Given the description of an element on the screen output the (x, y) to click on. 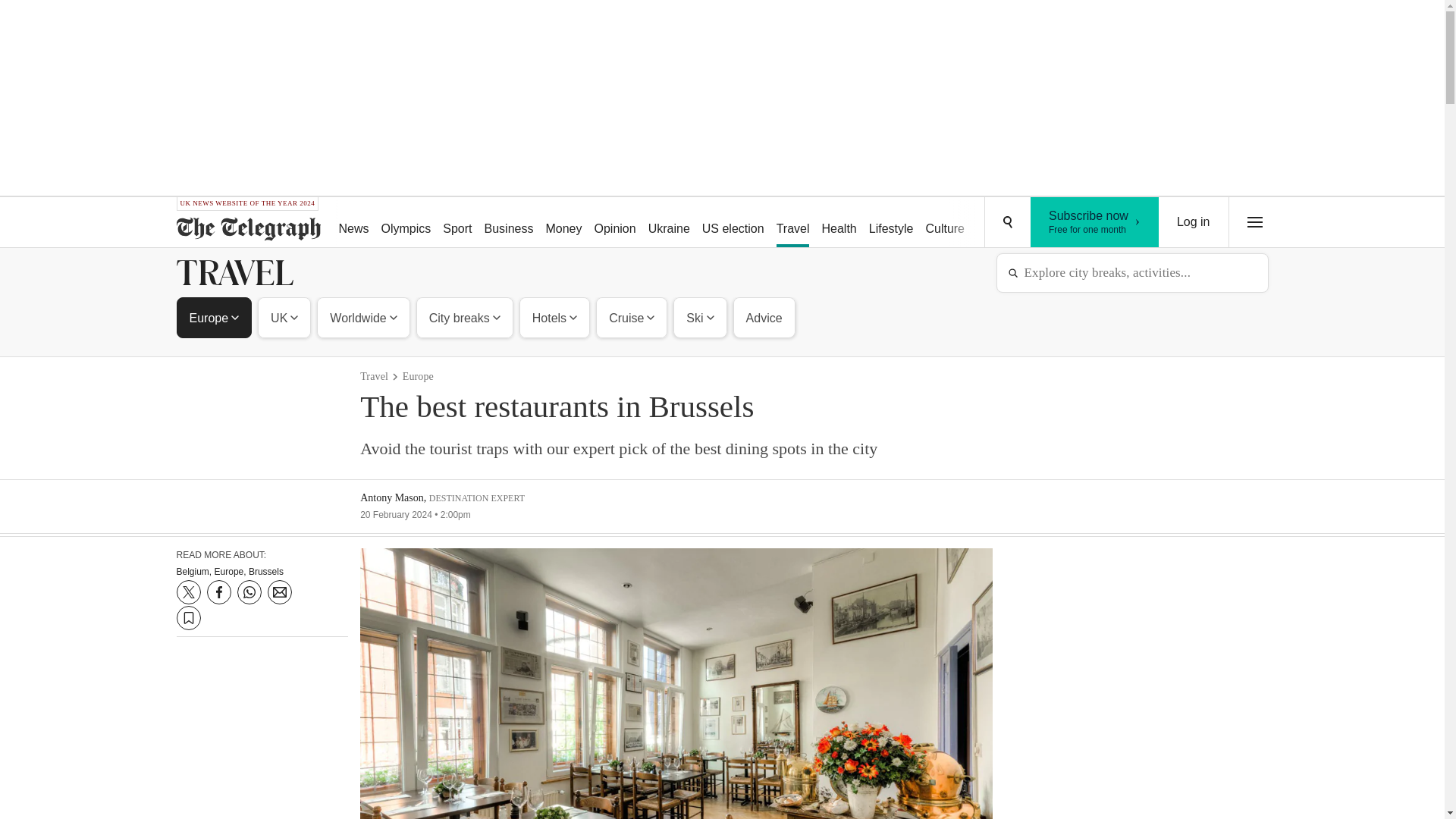
Europe (214, 317)
Business (1094, 222)
Culture (509, 223)
UK (944, 223)
Olympics (284, 317)
Puzzles (406, 223)
Opinion (998, 223)
Ukraine (615, 223)
Money (668, 223)
Travel (563, 223)
Worldwide (792, 223)
Log in (363, 317)
US election (1193, 222)
Lifestyle (732, 223)
